Given the description of an element on the screen output the (x, y) to click on. 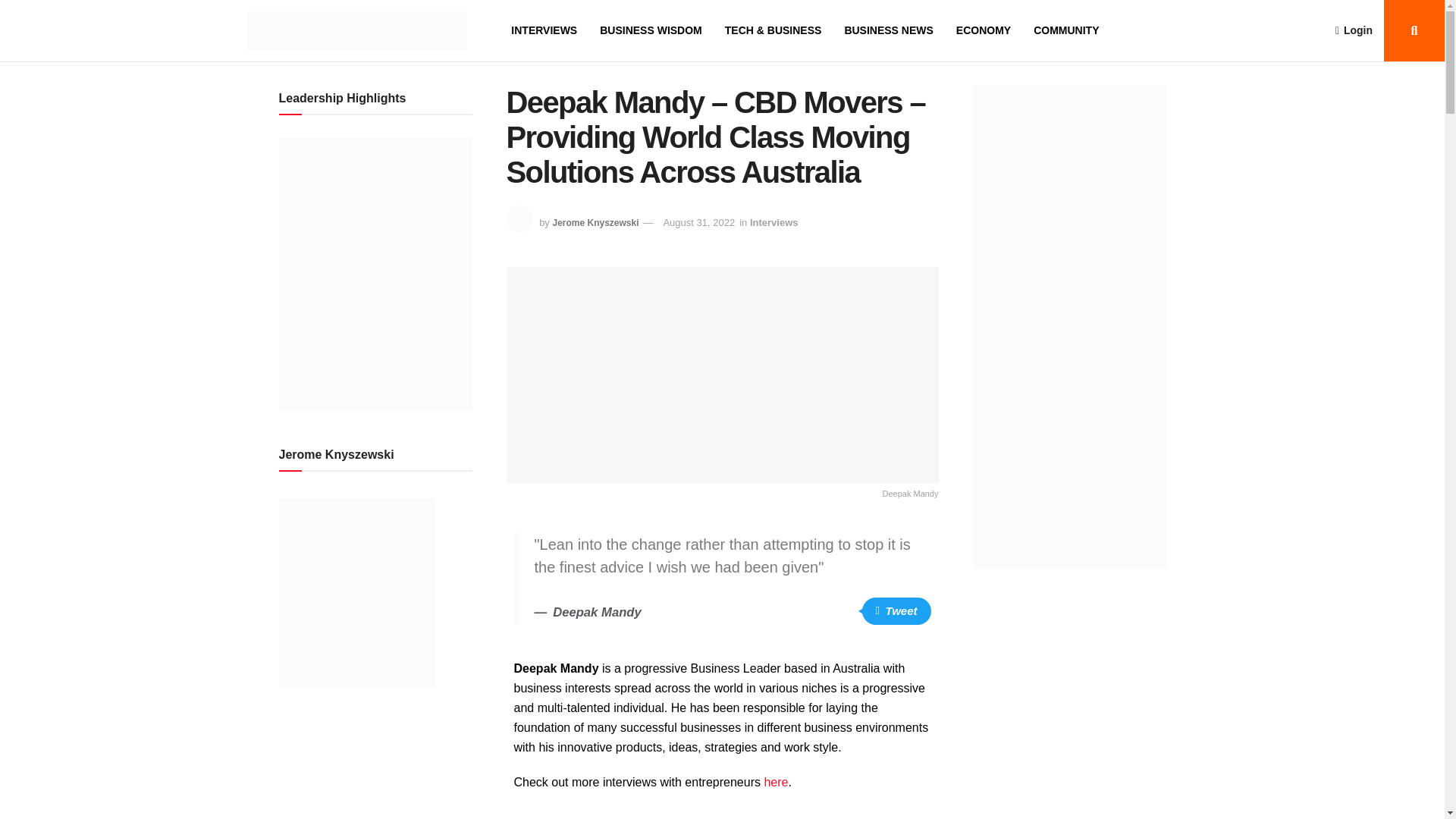
Jerome Knyszewski (595, 222)
here (774, 781)
Deepak Mandy (722, 384)
Interviews (773, 222)
August 31, 2022 (698, 222)
INTERVIEWS (543, 30)
BUSINESS WISDOM (650, 30)
ECONOMY (983, 30)
BUSINESS NEWS (888, 30)
COMMUNITY (1066, 30)
